Given the description of an element on the screen output the (x, y) to click on. 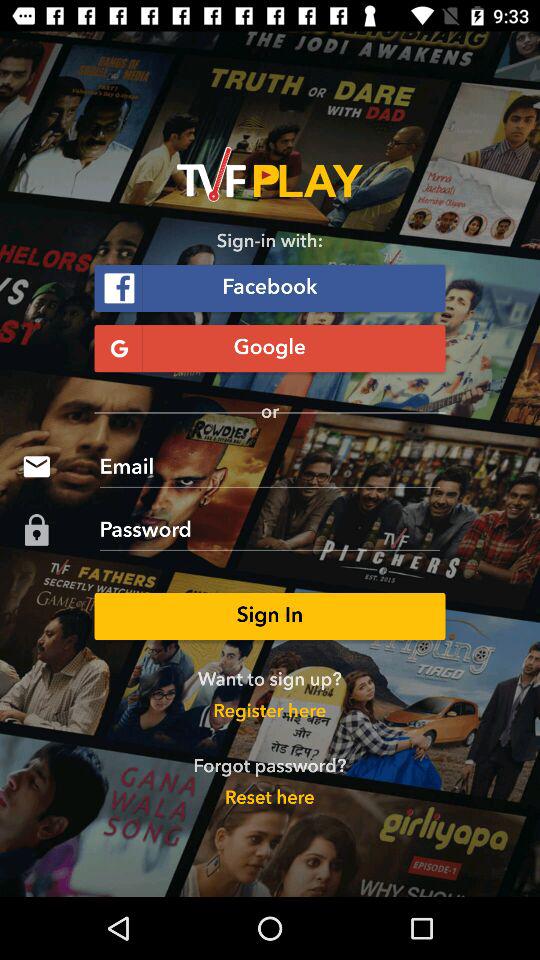
click the reset here item (269, 798)
